Given the description of an element on the screen output the (x, y) to click on. 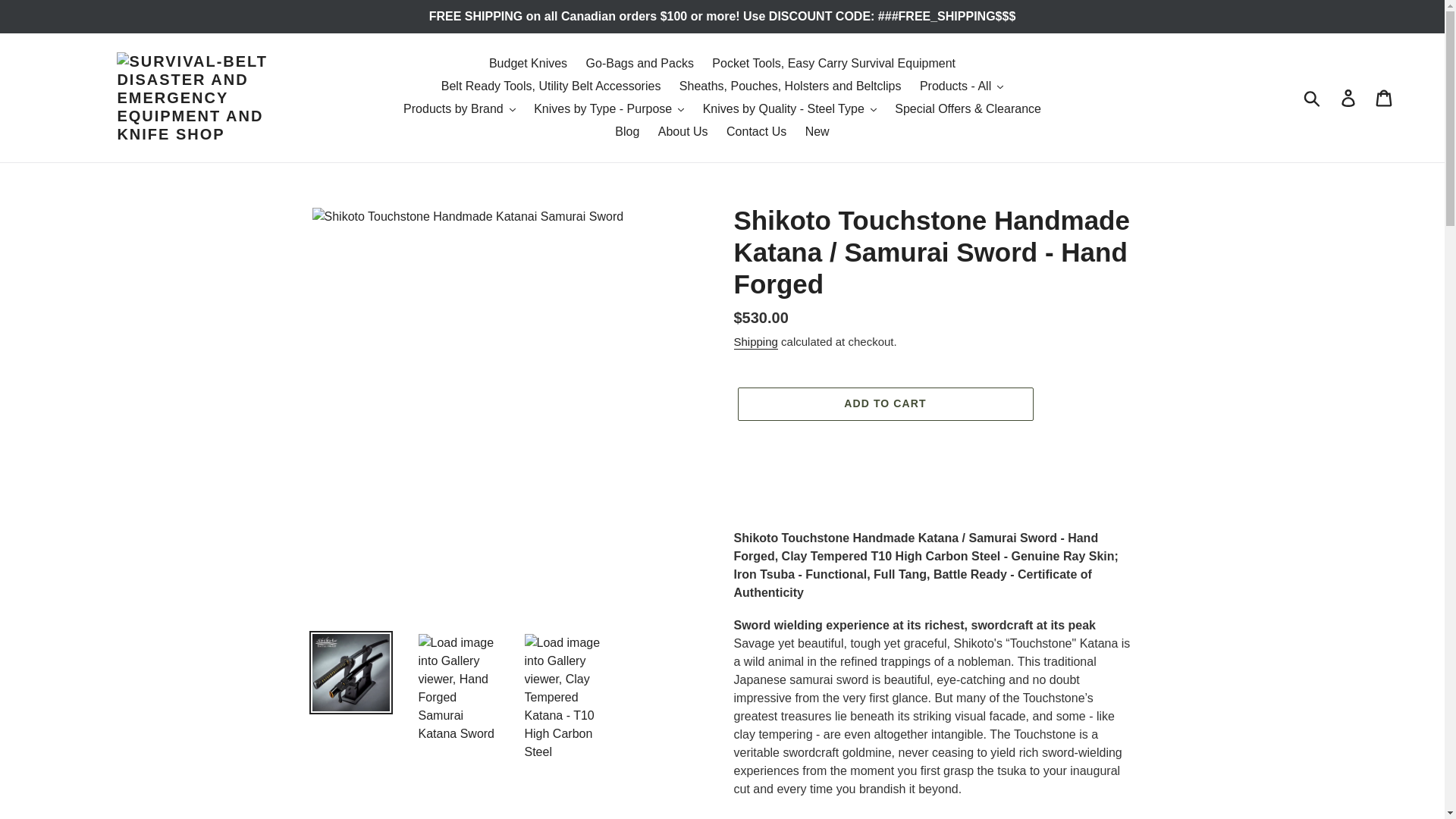
Go-Bags and Packs (639, 63)
Pocket Tools, Easy Carry Survival Equipment (833, 63)
Belt Ready Tools, Utility Belt Accessories (550, 86)
Budget Knives (528, 63)
Sheaths, Pouches, Holsters and Beltclips (789, 86)
